Given the description of an element on the screen output the (x, y) to click on. 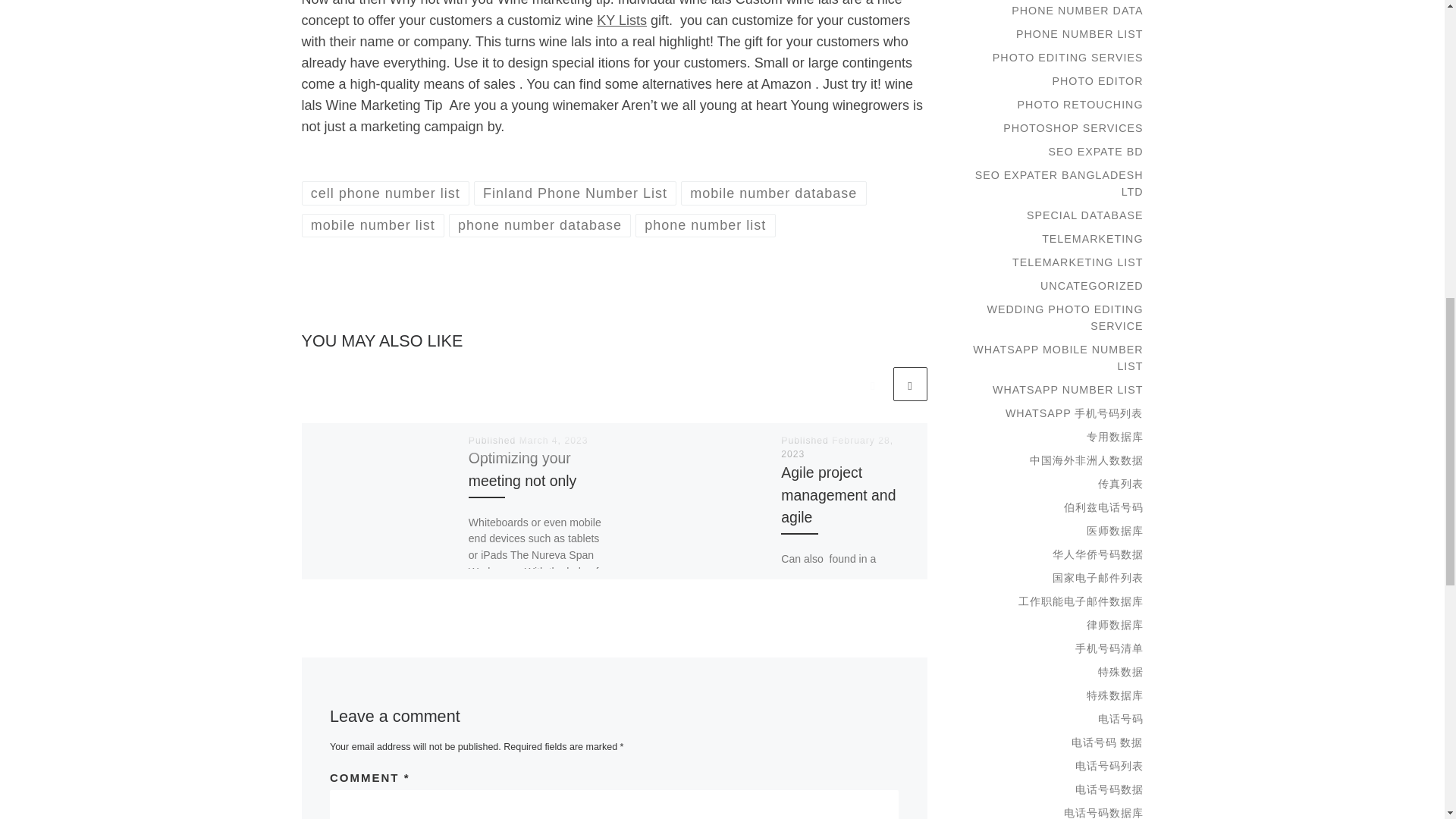
phone number database (539, 225)
View all posts in cell phone number list (385, 192)
phone number list (705, 225)
cell phone number list (385, 192)
mobile number database (773, 192)
View all posts in mobile number database (773, 192)
mobile number list (373, 225)
Previous related articles (872, 383)
View all posts in mobile number list (373, 225)
View all posts in phone number list (705, 225)
